Given the description of an element on the screen output the (x, y) to click on. 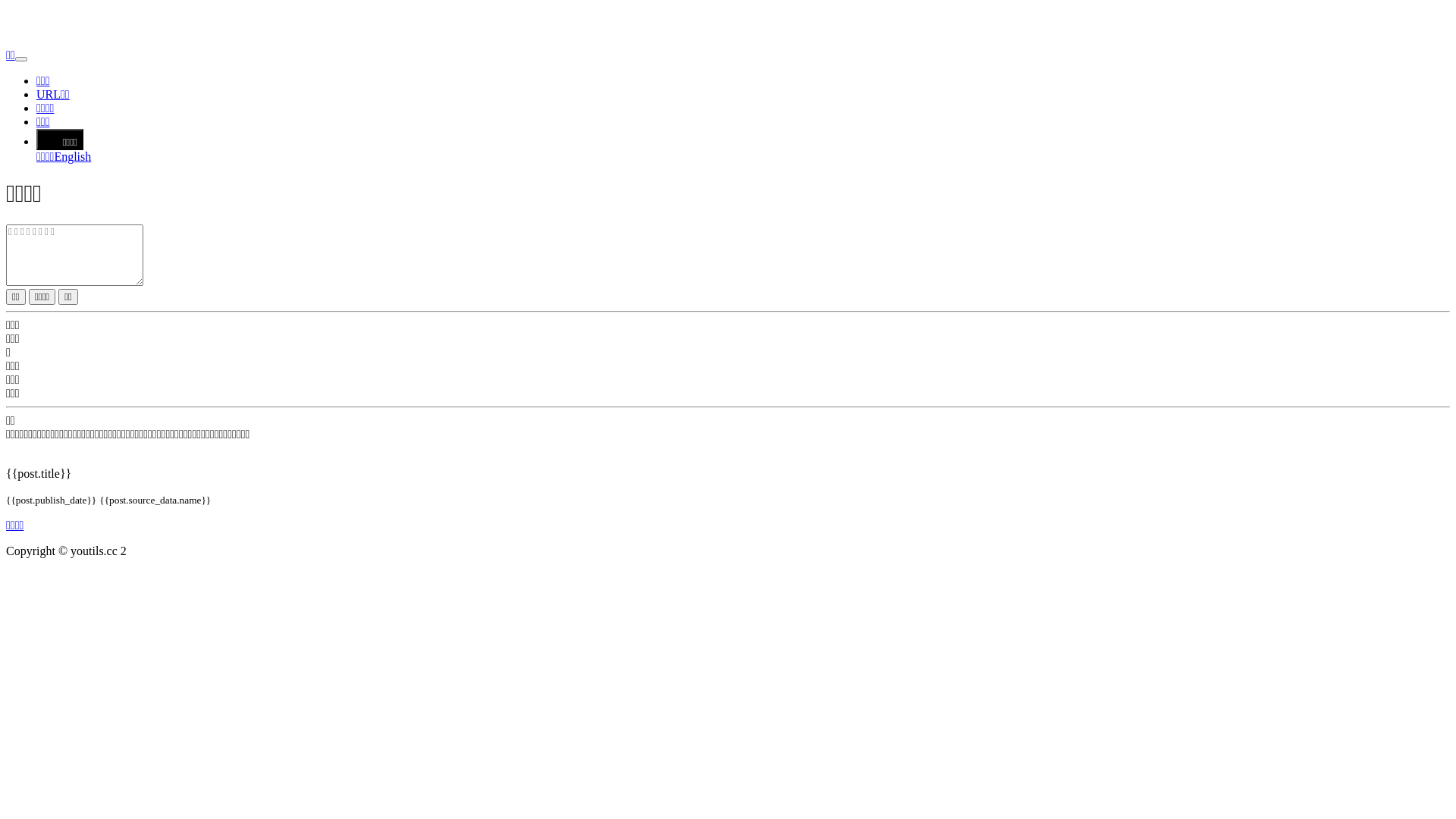
English Element type: text (72, 156)
